Given the description of an element on the screen output the (x, y) to click on. 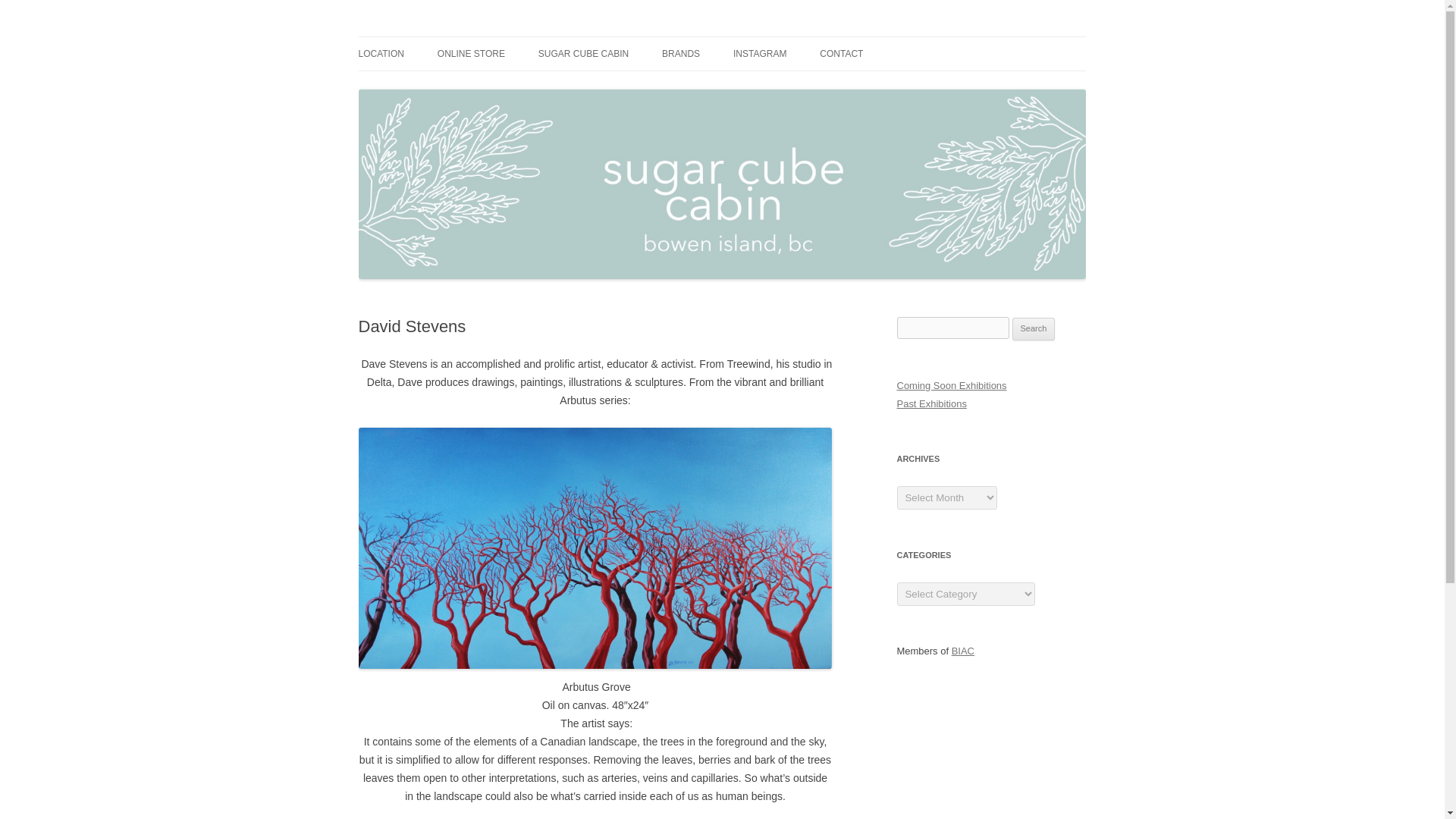
Past Exhibitions (931, 403)
INSTAGRAM (759, 53)
SUGAR CUBE CABIN (583, 53)
LOCATION (380, 53)
BRANDS (681, 53)
SLEEPOVER (433, 85)
Coming Soon Exhibitions (951, 385)
ONLINE STORE (471, 53)
CONTACT (841, 53)
